Given the description of an element on the screen output the (x, y) to click on. 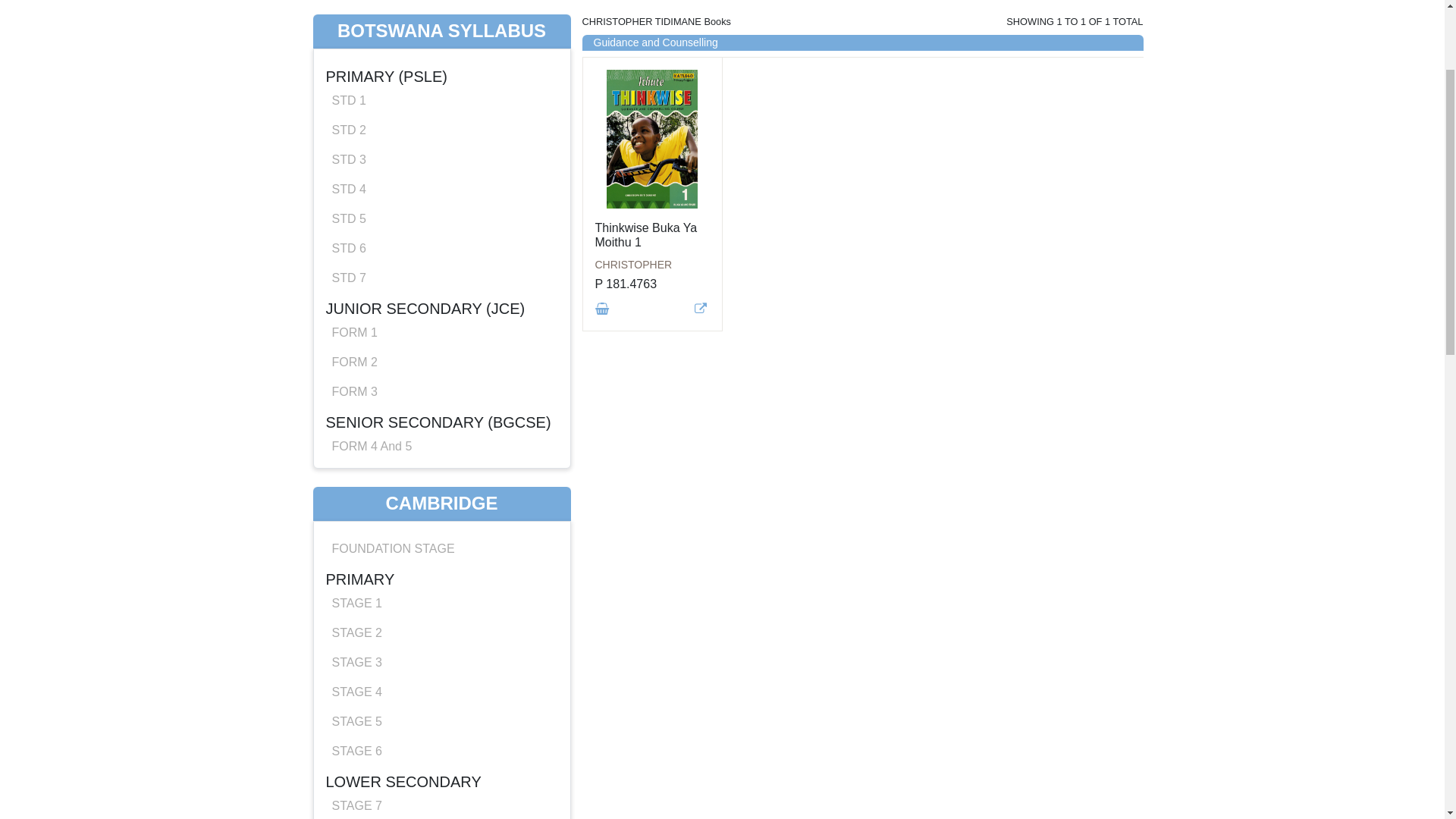
STD 1 Element type: text (349, 269)
Thinkwise Buka Ya Moithu 1 Element type: text (645, 404)
BOTSWANA SYLLABUS Element type: text (422, 78)
CAMBRIDGE Element type: text (537, 78)
STD 3 Element type: text (349, 329)
CONTACT US Element type: text (1002, 78)
HOME Element type: text (330, 78)
TERTIARY & REFERENCE BOOKS Element type: text (791, 78)
BOTSWANA SYLLABUS Element type: text (441, 201)
STD 2 Element type: text (349, 299)
STD 5 Element type: text (349, 388)
STD 7 Element type: text (349, 447)
CHRISTOPHER TIDIMANE Element type: text (651, 434)
  Element type: text (602, 478)
Guidance and Counselling Element type: text (655, 212)
SUBJECTS Element type: text (925, 78)
Login Element type: text (1122, 29)
CAMBRIDGE Element type: text (441, 673)
STD 4 Element type: text (349, 358)
FORM 2 Element type: text (354, 531)
FORM 4 And 5 Element type: text (372, 615)
  Element type: text (701, 478)
0
Shopping Cart Element type: text (1045, 29)
STD 6 Element type: text (349, 417)
STAGE 2 Element type: text (357, 802)
FORM 1 Element type: text (354, 501)
FOUNDATION STAGE Element type: text (393, 718)
STAGE 1 Element type: text (357, 772)
FORM 3 Element type: text (354, 561)
ABOUT Element type: text (1066, 78)
REVISION BOOKS Element type: text (638, 78)
